Given the description of an element on the screen output the (x, y) to click on. 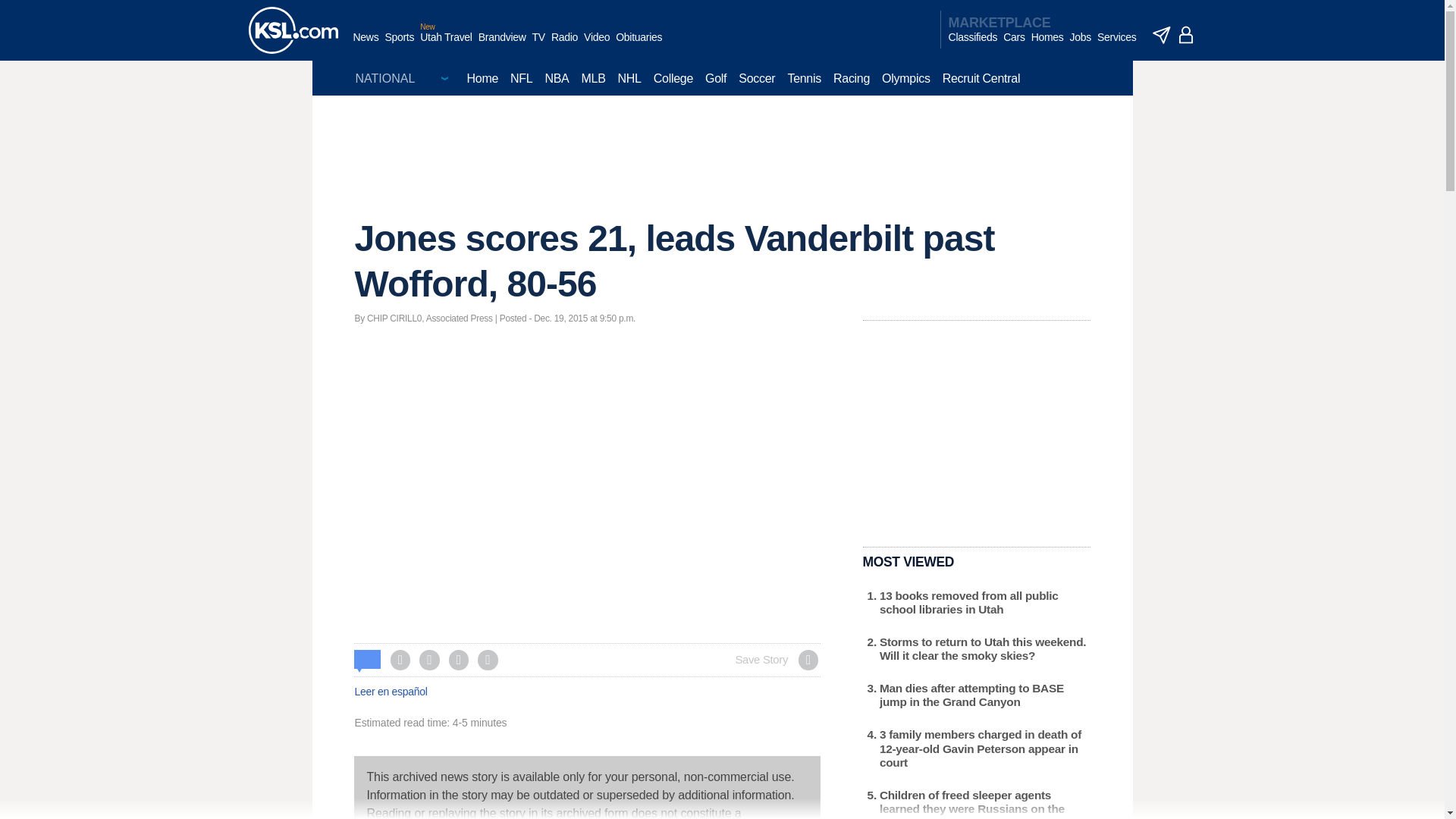
Utah Travel (445, 45)
KSL homepage (292, 30)
Sports (398, 45)
Brandview (502, 45)
News (365, 45)
account - logged out (1185, 34)
TV (538, 45)
KSL homepage (292, 29)
